Given the description of an element on the screen output the (x, y) to click on. 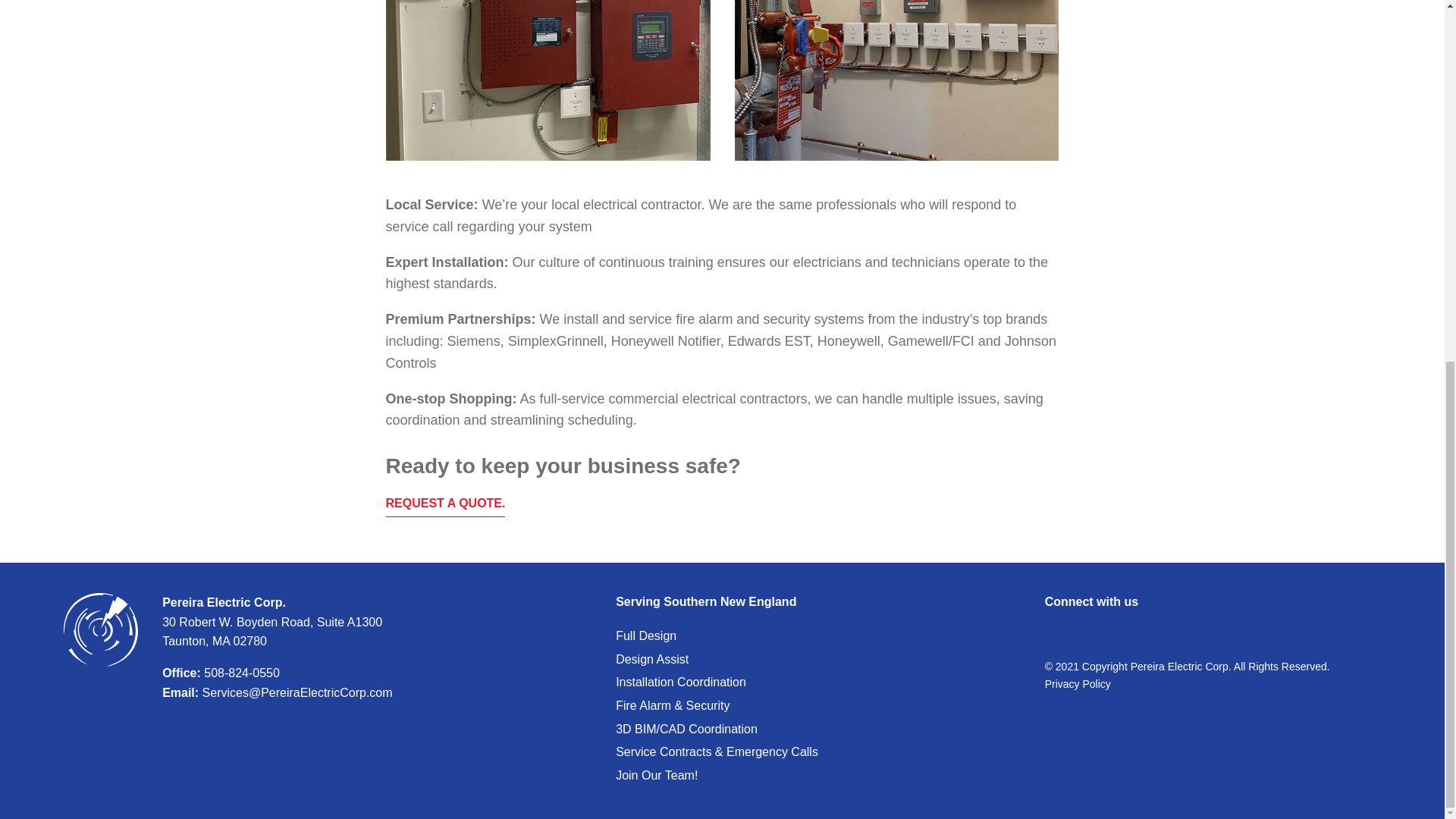
Full Design (646, 635)
Design Assist (651, 658)
REQUEST A QUOTE. (445, 505)
508-824-0550 (239, 672)
Installation Coordination (680, 681)
